Given the description of an element on the screen output the (x, y) to click on. 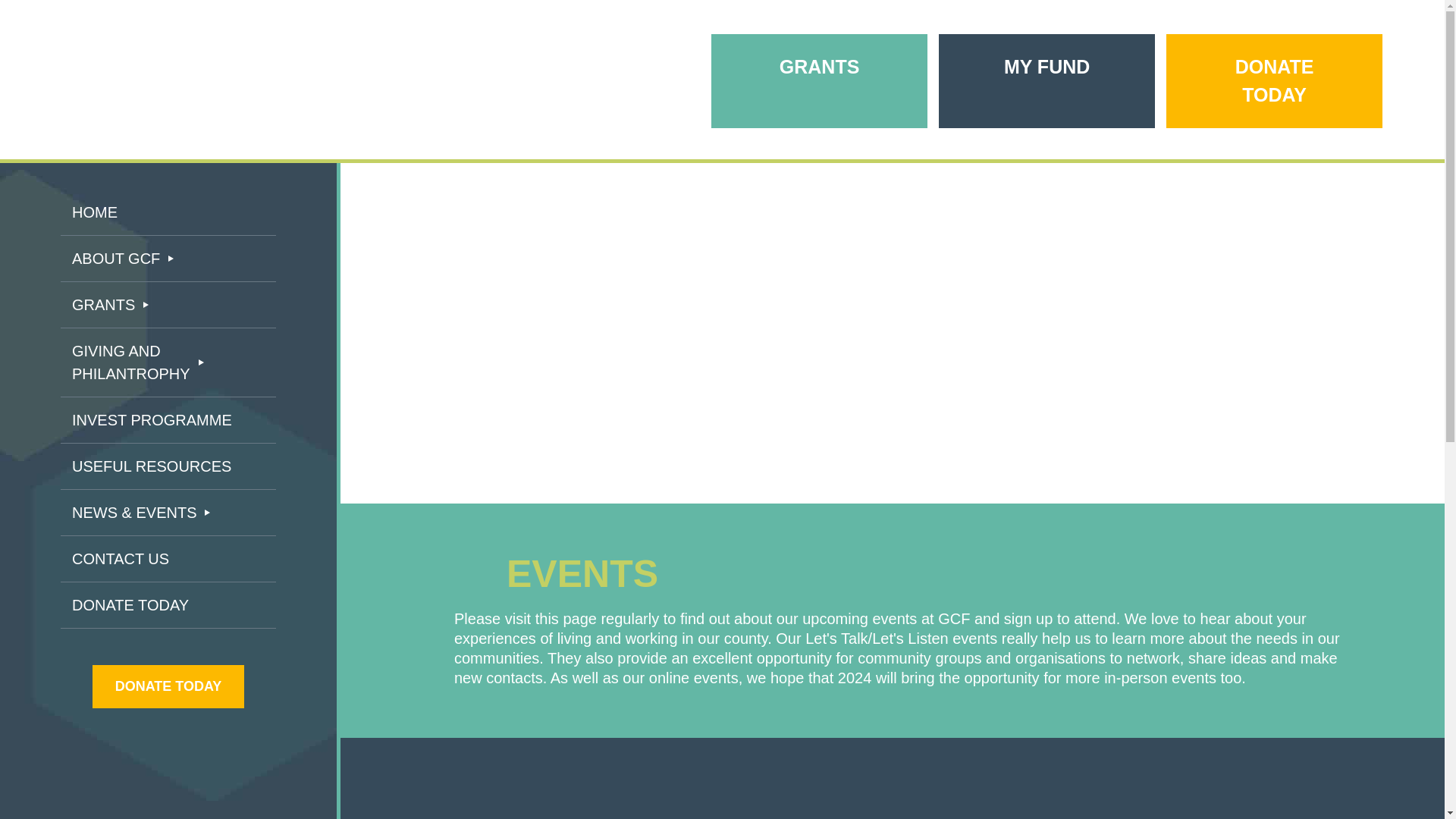
GRANTS (819, 66)
INVEST PROGRAMME (168, 420)
DONATE TODAY (168, 605)
ABOUT GCF (168, 258)
MY FUND (1046, 66)
HOME (168, 212)
DONATE TODAY (1274, 81)
USEFUL RESOURCES (168, 466)
CONTACT US (168, 559)
GRANTS (168, 304)
GIVING AND PHILANTROPHY (168, 362)
DONATE TODAY (168, 685)
